Given the description of an element on the screen output the (x, y) to click on. 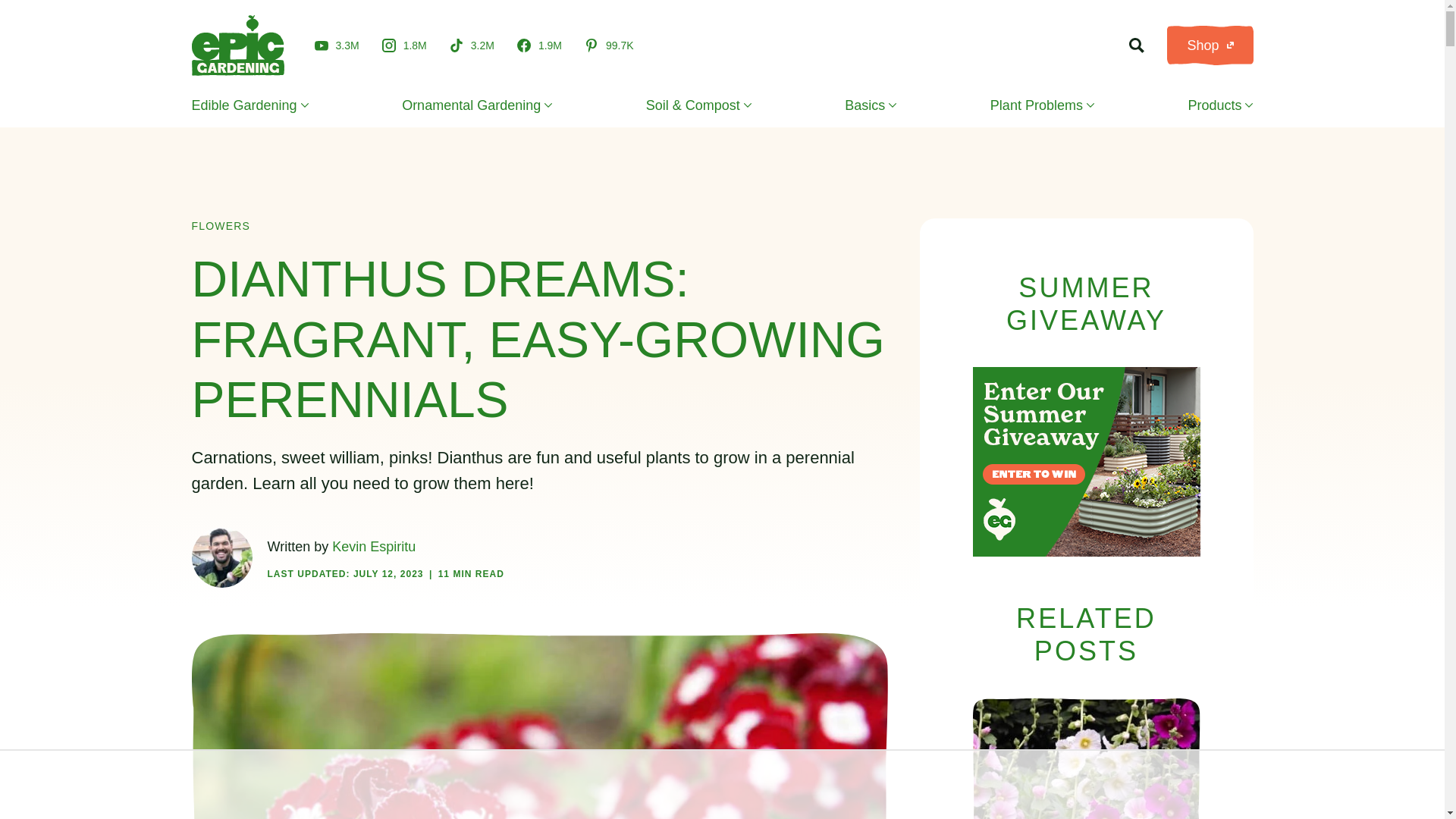
Posts by Kevin Espiritu (372, 546)
Shop (1209, 45)
1.9M (539, 45)
99.7K (609, 45)
3.3M (336, 45)
1.8M (403, 45)
Ornamental Gardening (476, 105)
Basics (870, 105)
Edible Gardening (248, 105)
3.2M (472, 45)
